Given the description of an element on the screen output the (x, y) to click on. 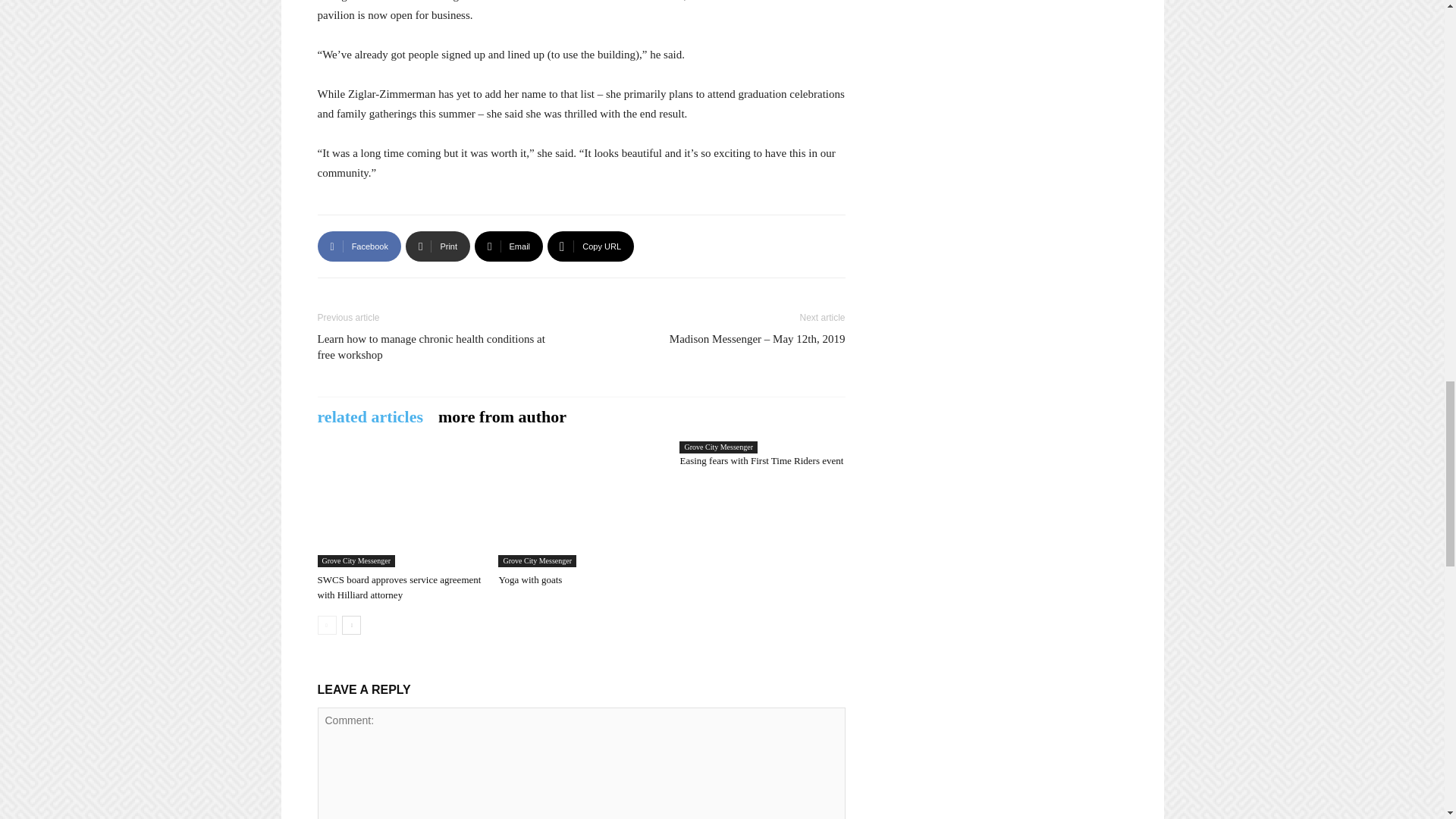
SWCS board approves service agreement with Hilliard attorney (398, 587)
Copy URL (590, 245)
Yoga with goats (580, 510)
Print (438, 245)
Email (508, 245)
SWCS board approves service agreement with Hilliard attorney (399, 510)
Facebook (358, 245)
